Given the description of an element on the screen output the (x, y) to click on. 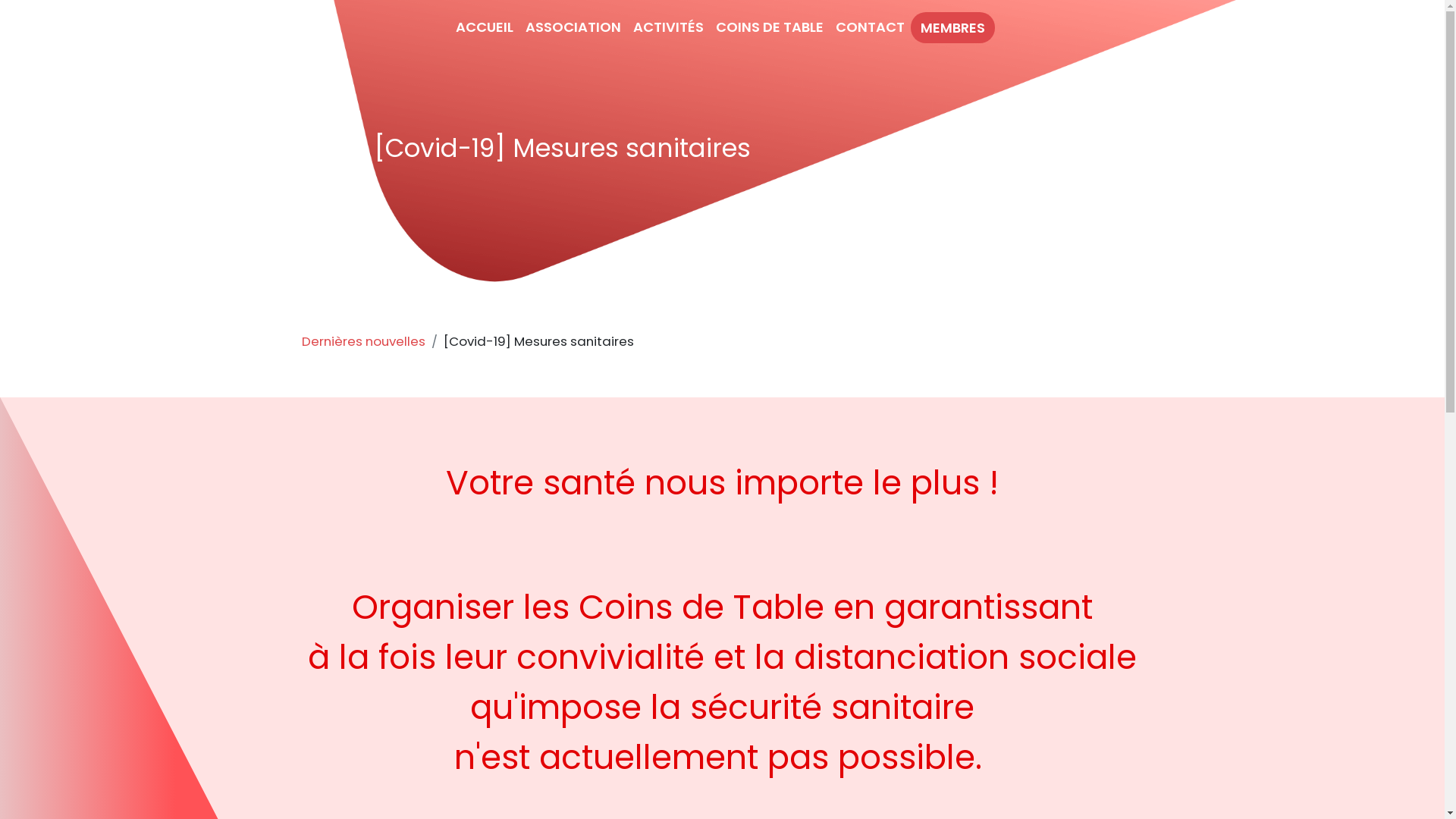
ASSOCIATION Element type: text (573, 27)
ACCUEIL Element type: text (484, 27)
COINS DE TABLE Element type: text (769, 27)
CONTACT Element type: text (869, 27)
MEMBRES Element type: text (952, 27)
